Given the description of an element on the screen output the (x, y) to click on. 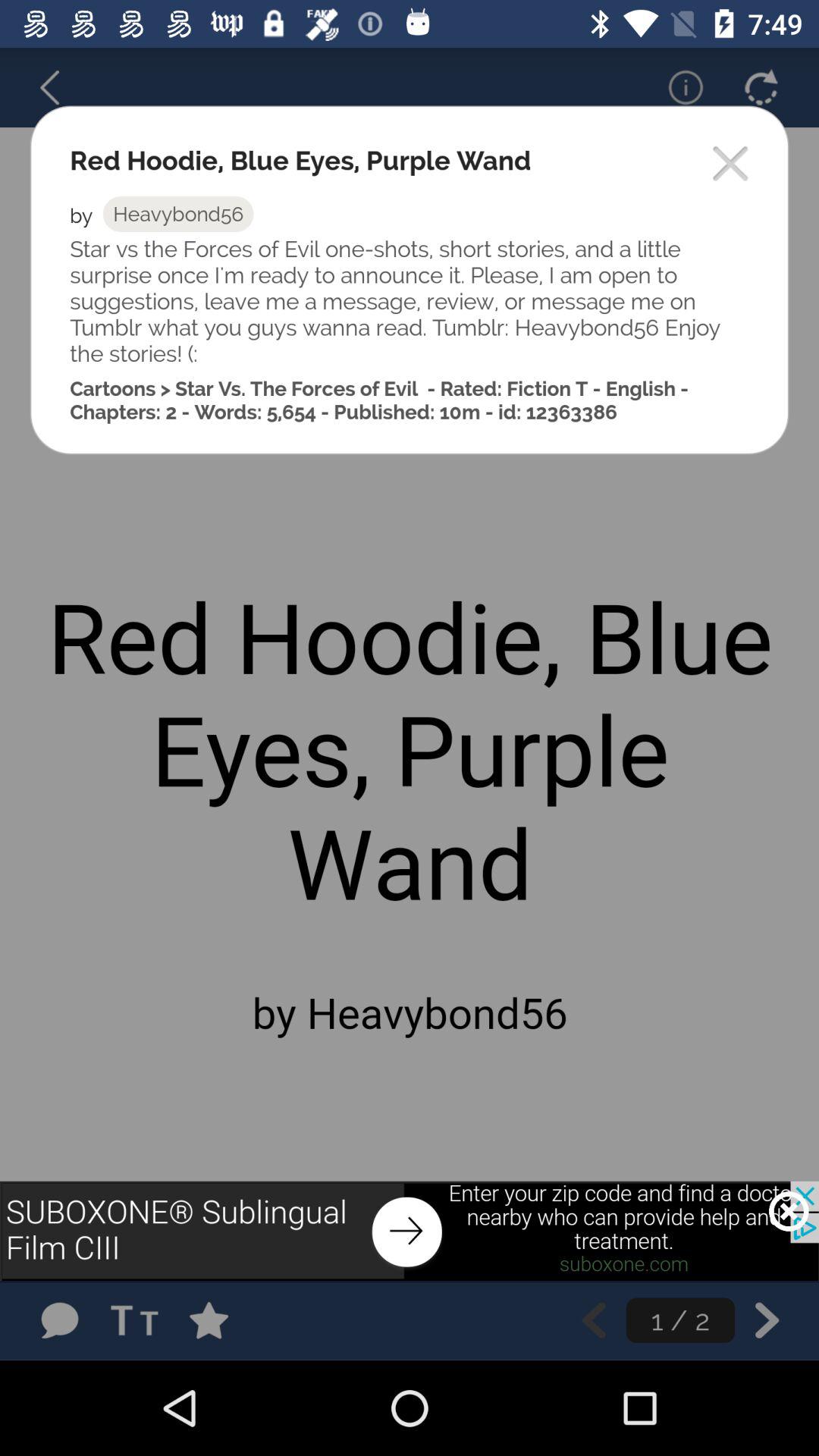
close the advertisement (788, 1211)
